Given the description of an element on the screen output the (x, y) to click on. 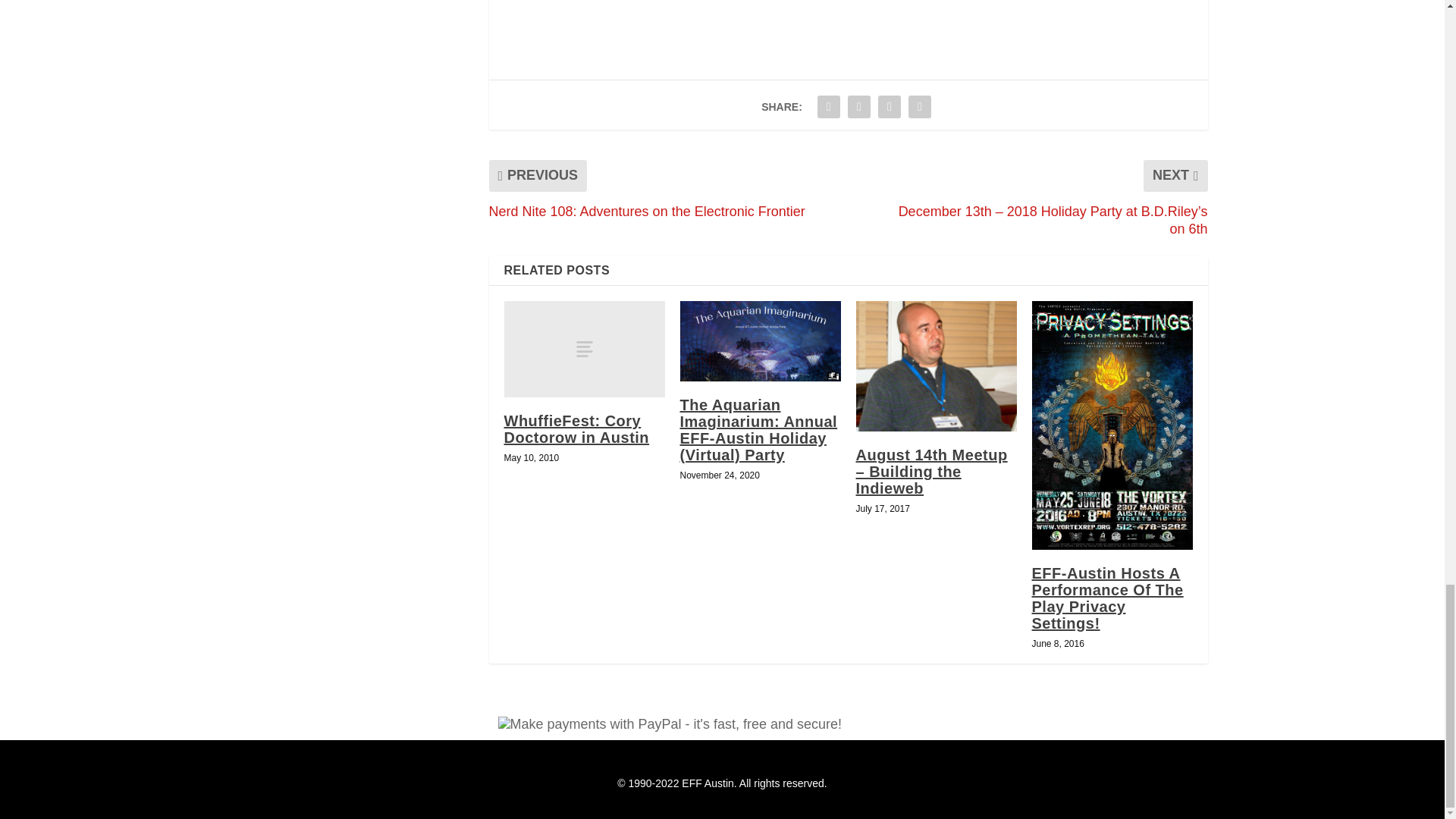
WhuffieFest: Cory Doctorow in Austin (583, 349)
